Given the description of an element on the screen output the (x, y) to click on. 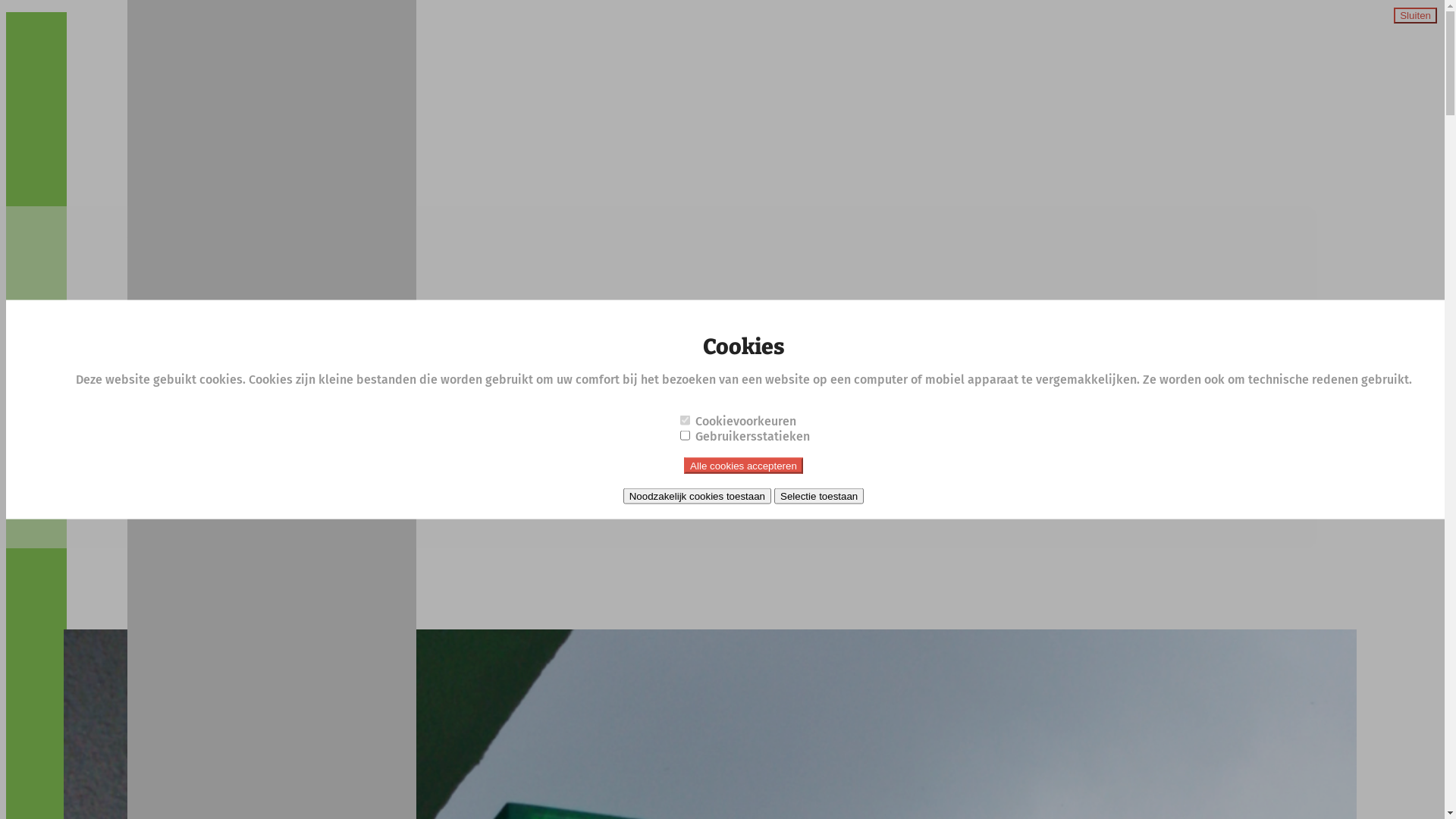
apotheek.stalpaert@skynet.be Element type: text (251, 420)
http://www.apotheekstalpaert.be Element type: text (262, 454)
Home Element type: text (191, 19)
Alle cookies accepteren Element type: text (743, 465)
Artikels Element type: text (197, 33)
Reserveer hier Element type: text (167, 515)
Noodzakelijk cookies toestaan Element type: text (697, 495)
Sluiten Element type: text (1415, 15)
Contact Element type: text (196, 47)
Routebeschrijving Element type: text (181, 271)
Maak een afspraak Element type: text (264, 515)
Selectie toestaan Element type: text (818, 495)
